Given the description of an element on the screen output the (x, y) to click on. 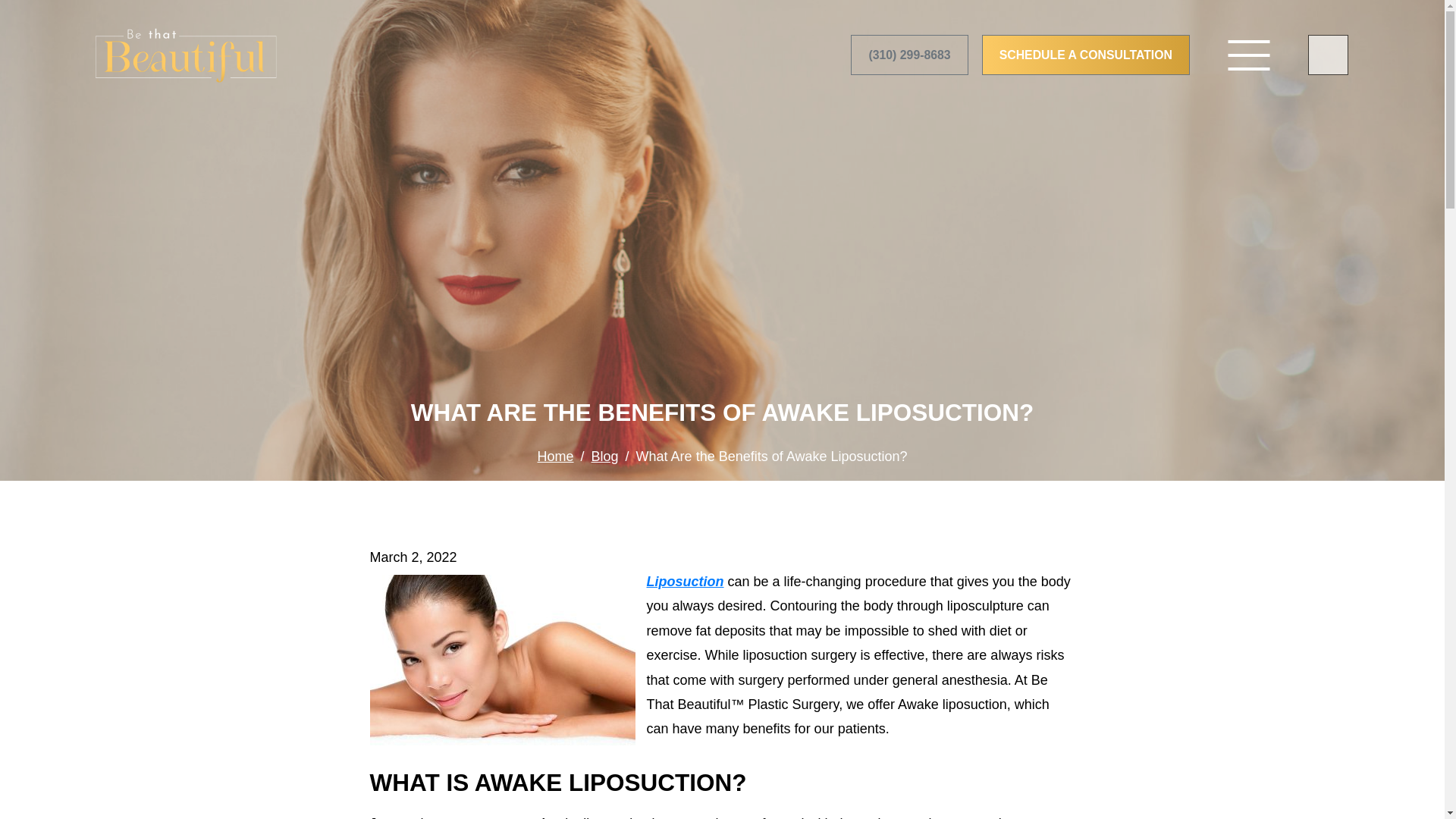
Switch to high color contrast version of the website (1327, 55)
Toggle Menu (1248, 55)
SCHEDULE A CONSULTATION (1085, 55)
Beverly Hills CA Liposuction Surgery near me (684, 581)
SKIP TO MAIN CONTENT (17, 11)
